Given the description of an element on the screen output the (x, y) to click on. 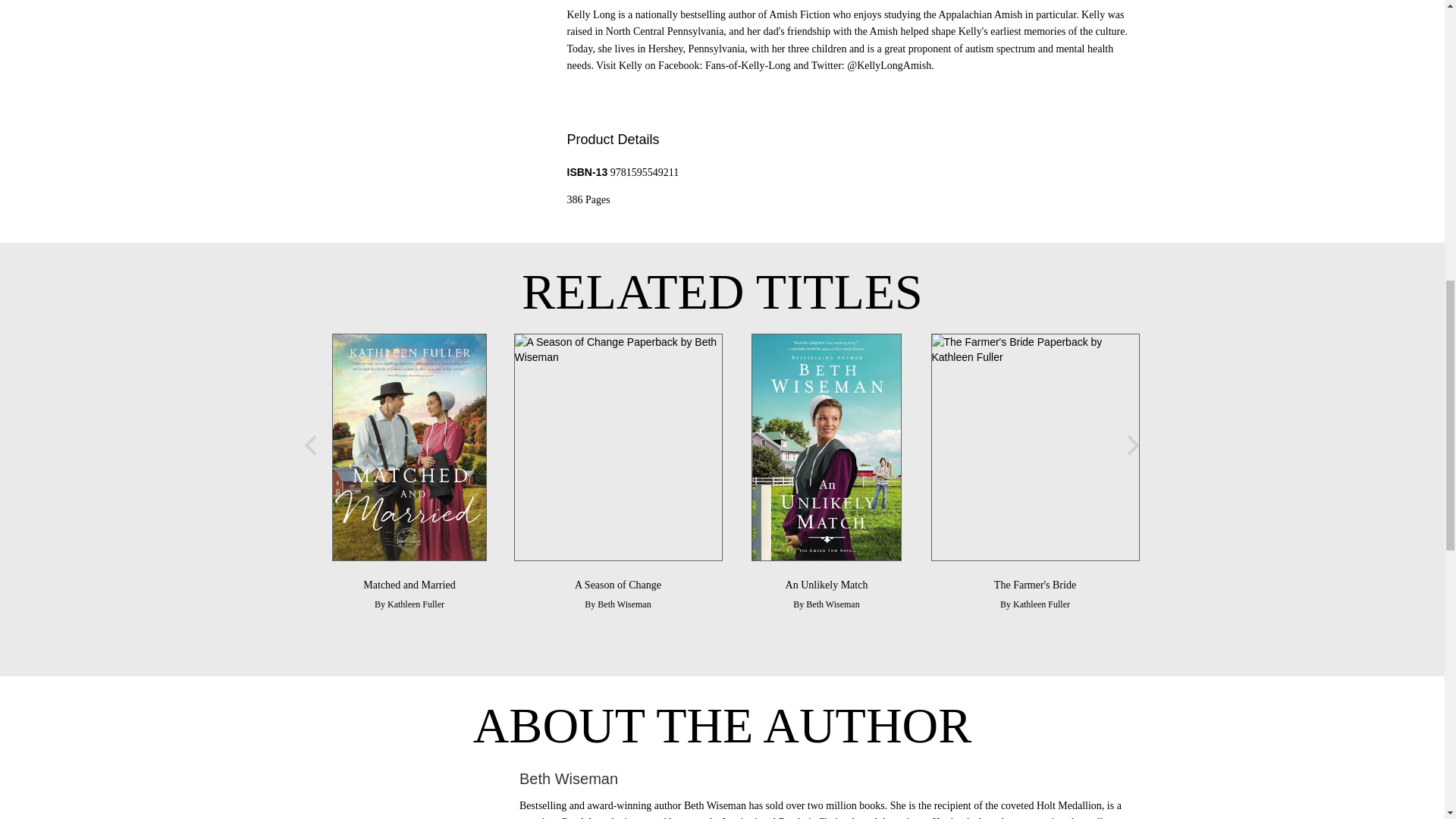
A Season of Change (618, 584)
Matched and Married (408, 584)
Matched and Married (408, 584)
The Farmer's Bride (1034, 584)
A Season of Change (618, 584)
A Season of Change (617, 447)
Matched and Married (408, 447)
An Unlikely Match (826, 447)
An Unlikely Match (826, 584)
